Given the description of an element on the screen output the (x, y) to click on. 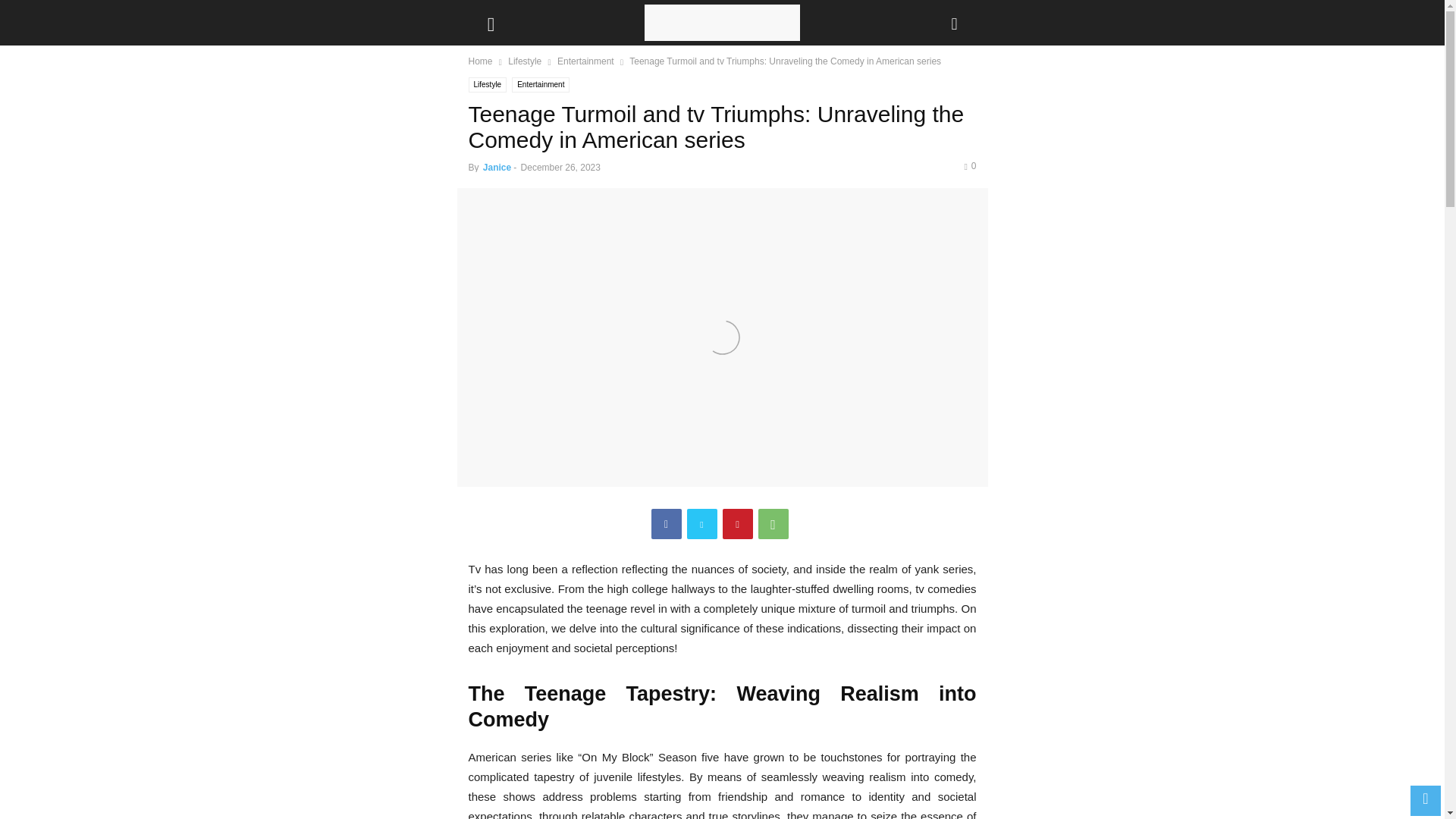
Twitter (702, 523)
View all posts in Entertainment (585, 61)
Entertainment (540, 84)
Facebook (665, 523)
Lifestyle (487, 84)
Home (480, 61)
0 (969, 165)
Pinterest (737, 523)
Lifestyle (524, 61)
